Given the description of an element on the screen output the (x, y) to click on. 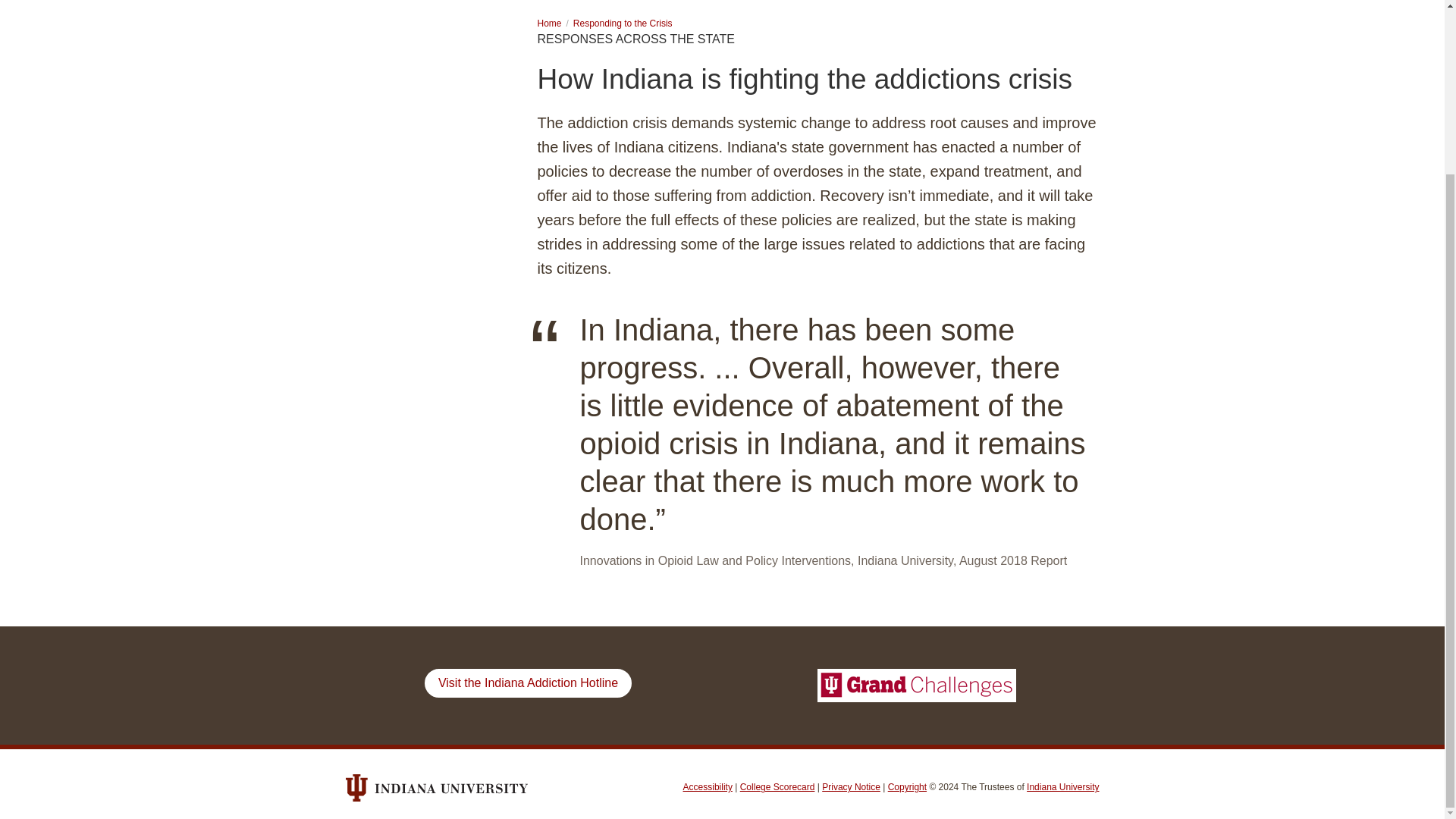
Copyright (907, 787)
Responding to the Crisis (622, 23)
College Scorecard (777, 787)
Privacy Notice (851, 787)
Indiana University (1062, 787)
Visit the Indiana Addiction Hotline (528, 683)
Home (548, 23)
Accessibility (707, 787)
